Given the description of an element on the screen output the (x, y) to click on. 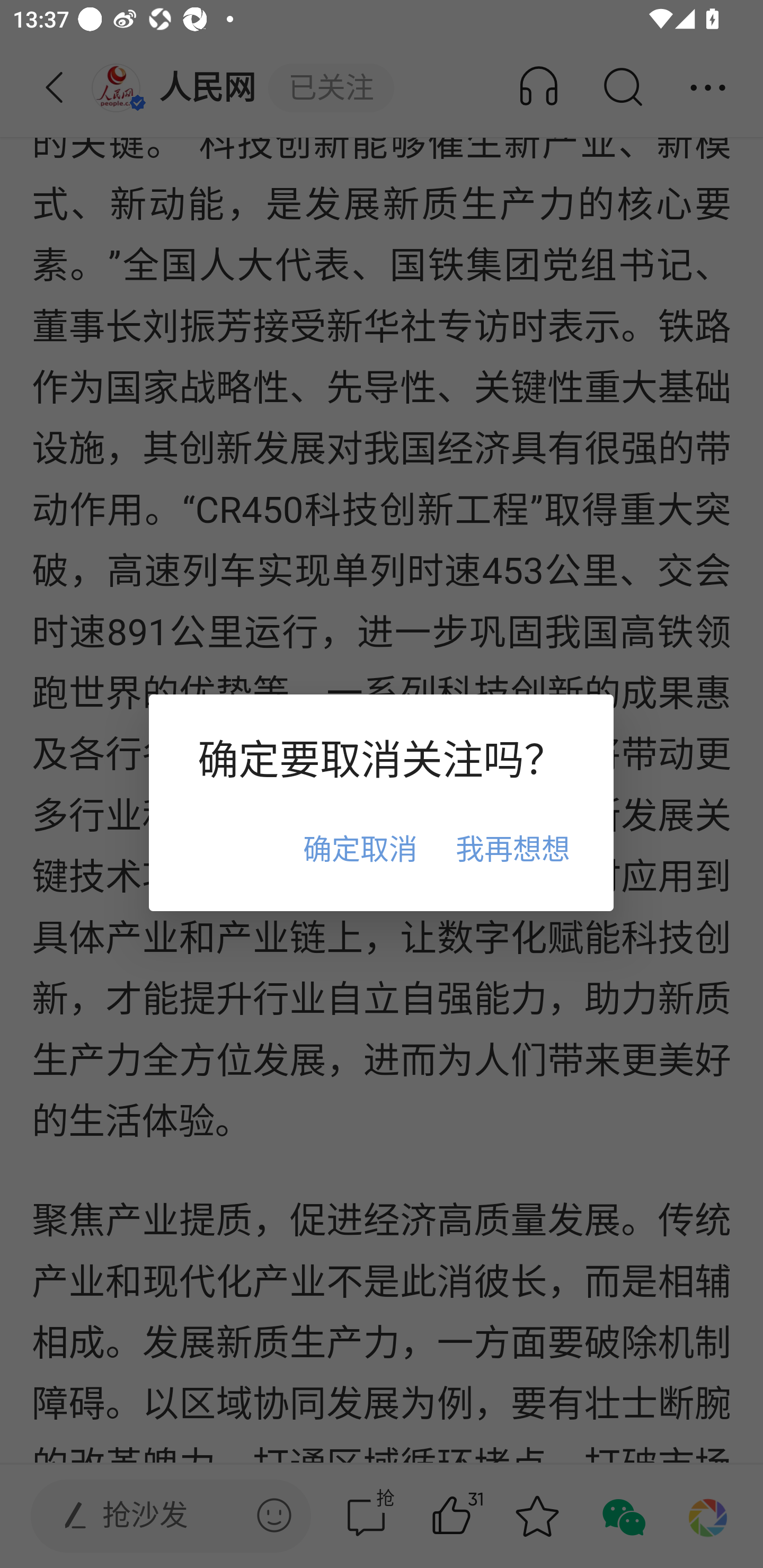
确定取消 (359, 848)
我再想想 (512, 848)
